Given the description of an element on the screen output the (x, y) to click on. 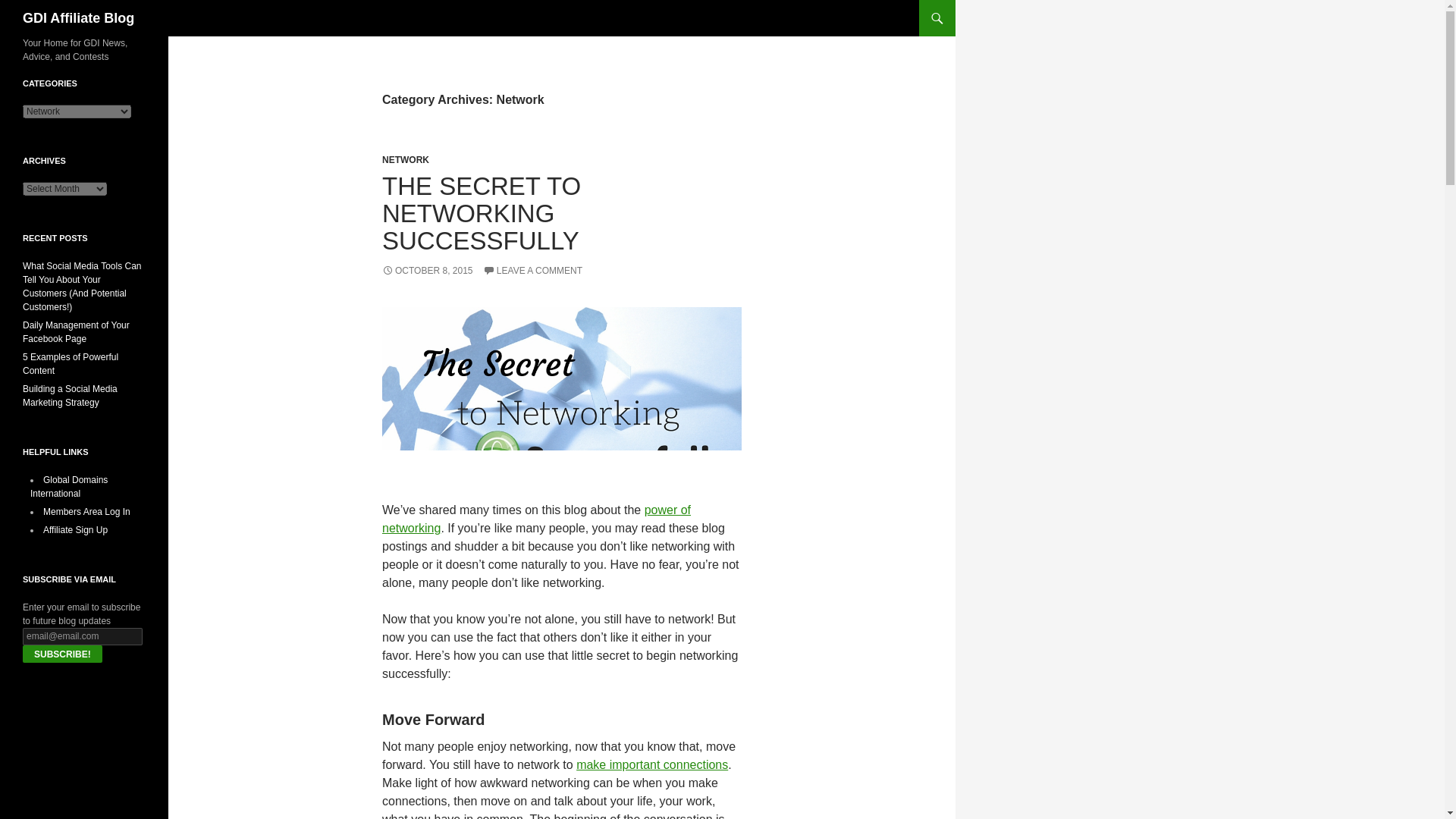
power of networking (535, 518)
NETWORK (405, 159)
GDI Affiliate Blog (78, 18)
OCTOBER 8, 2015 (427, 270)
THE SECRET TO NETWORKING SUCCESSFULLY (480, 212)
LEAVE A COMMENT (532, 270)
make important connections (652, 764)
Subscribe! (62, 653)
